Given the description of an element on the screen output the (x, y) to click on. 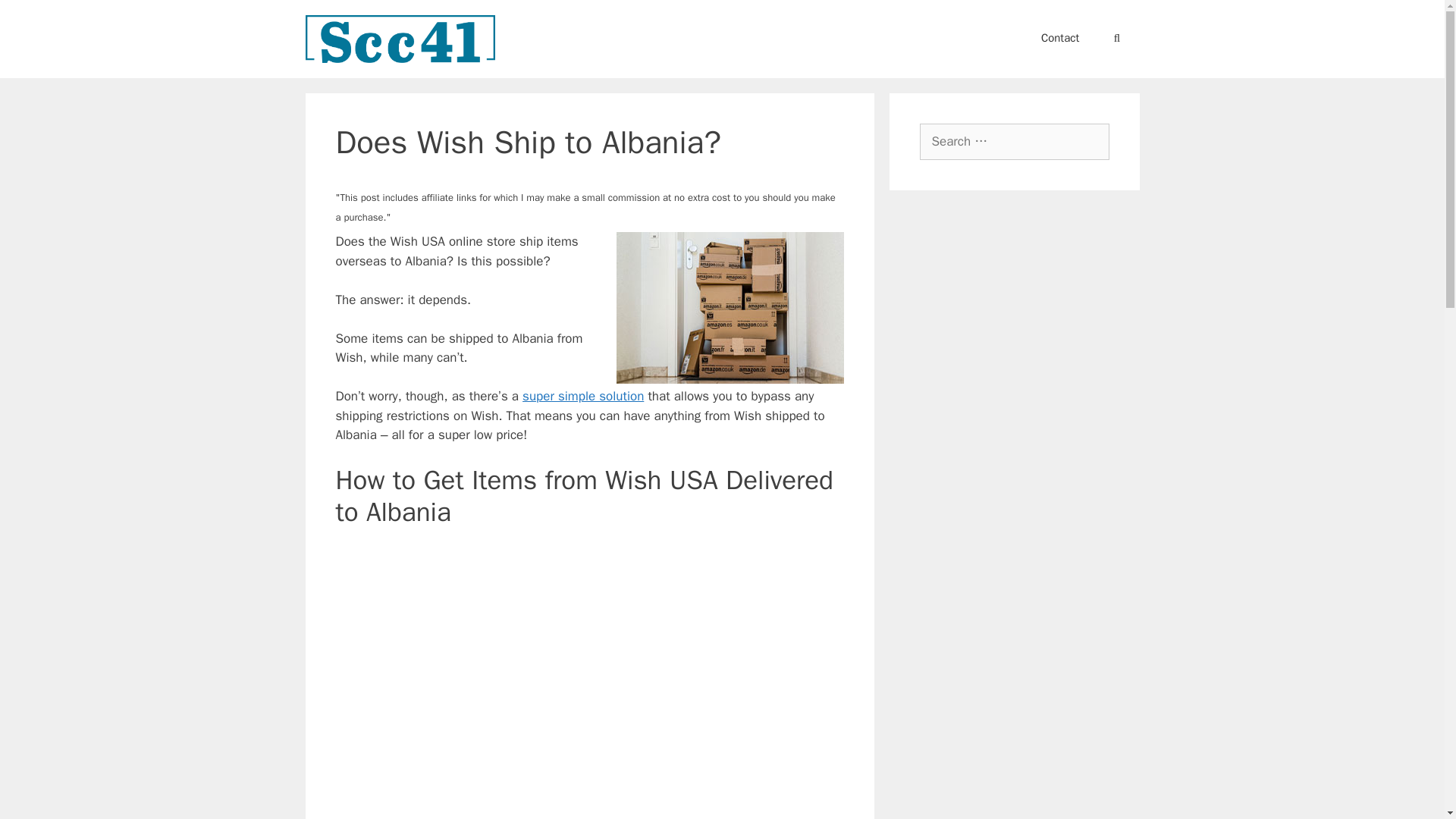
scc41 (399, 39)
Search (33, 15)
super simple solution (582, 396)
Search for: (1013, 141)
Contact (1060, 37)
scc41 (399, 37)
